Given the description of an element on the screen output the (x, y) to click on. 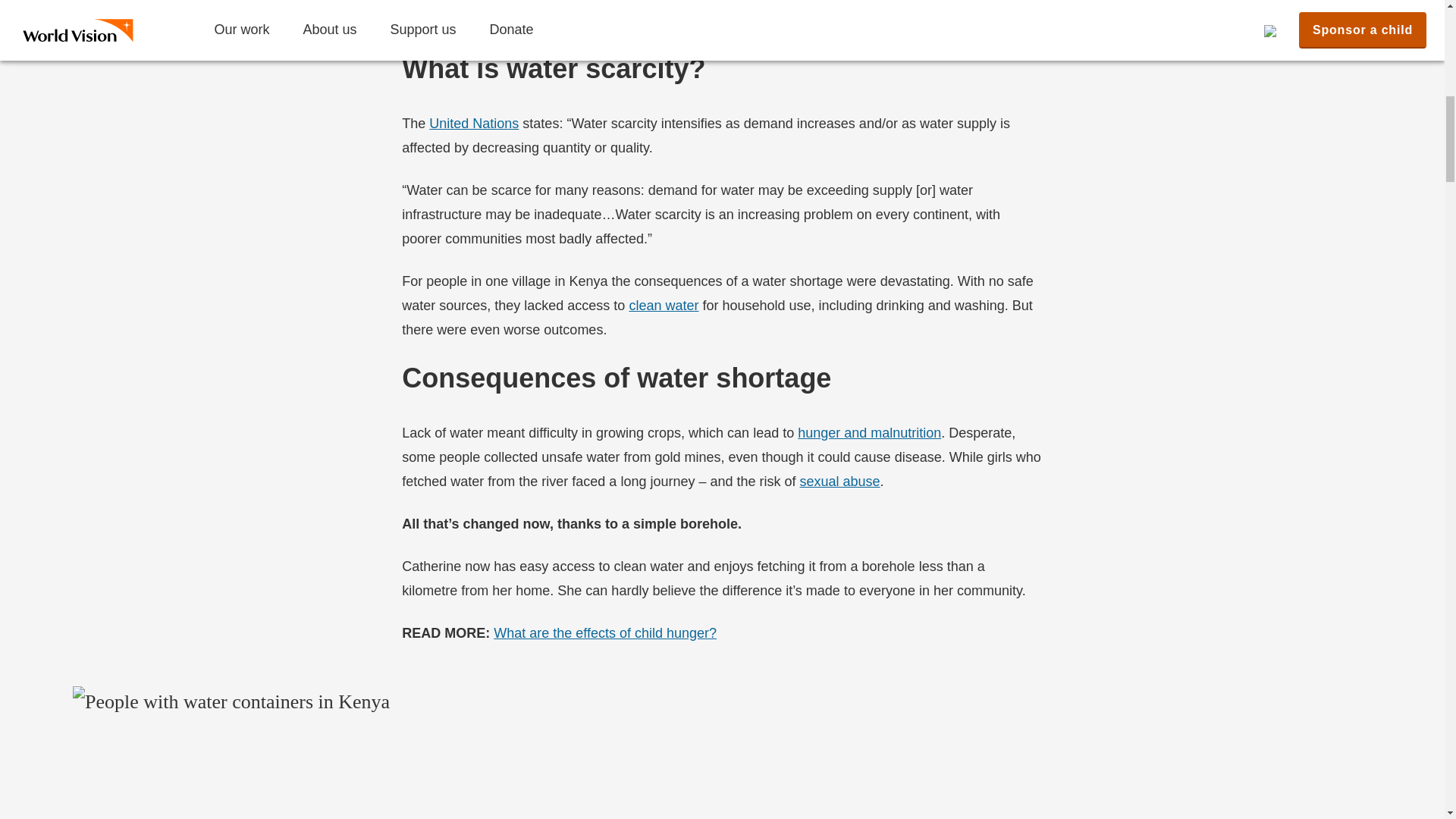
hunger and malnutrition (868, 432)
clean water (663, 305)
sexual abuse (839, 481)
What are the effects of child hunger? (604, 632)
